Given the description of an element on the screen output the (x, y) to click on. 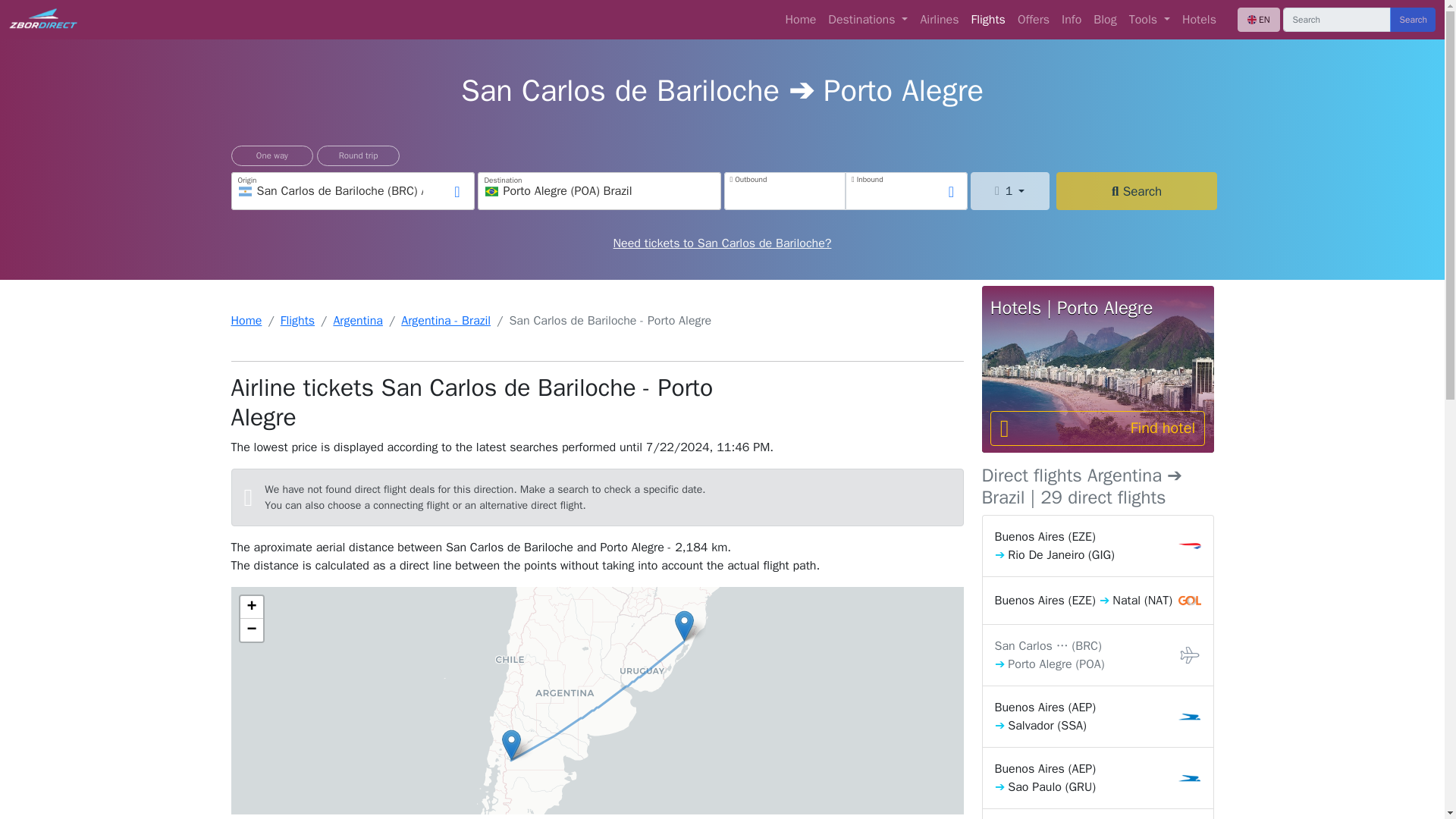
Flights (988, 19)
Buenos-aires - Salvador (1096, 716)
Blog (1104, 19)
Search (1137, 190)
Argentina - Brazil (445, 320)
Info (1071, 19)
Flights (297, 320)
Zoom out (251, 630)
Buenos-aires - Natal (1096, 600)
Hotels (1199, 19)
Destinations (868, 19)
Swap Origin and Destination (455, 191)
Search (1412, 19)
Home (800, 19)
Buenos-aires - Belo-horizonte (1096, 814)
